Given the description of an element on the screen output the (x, y) to click on. 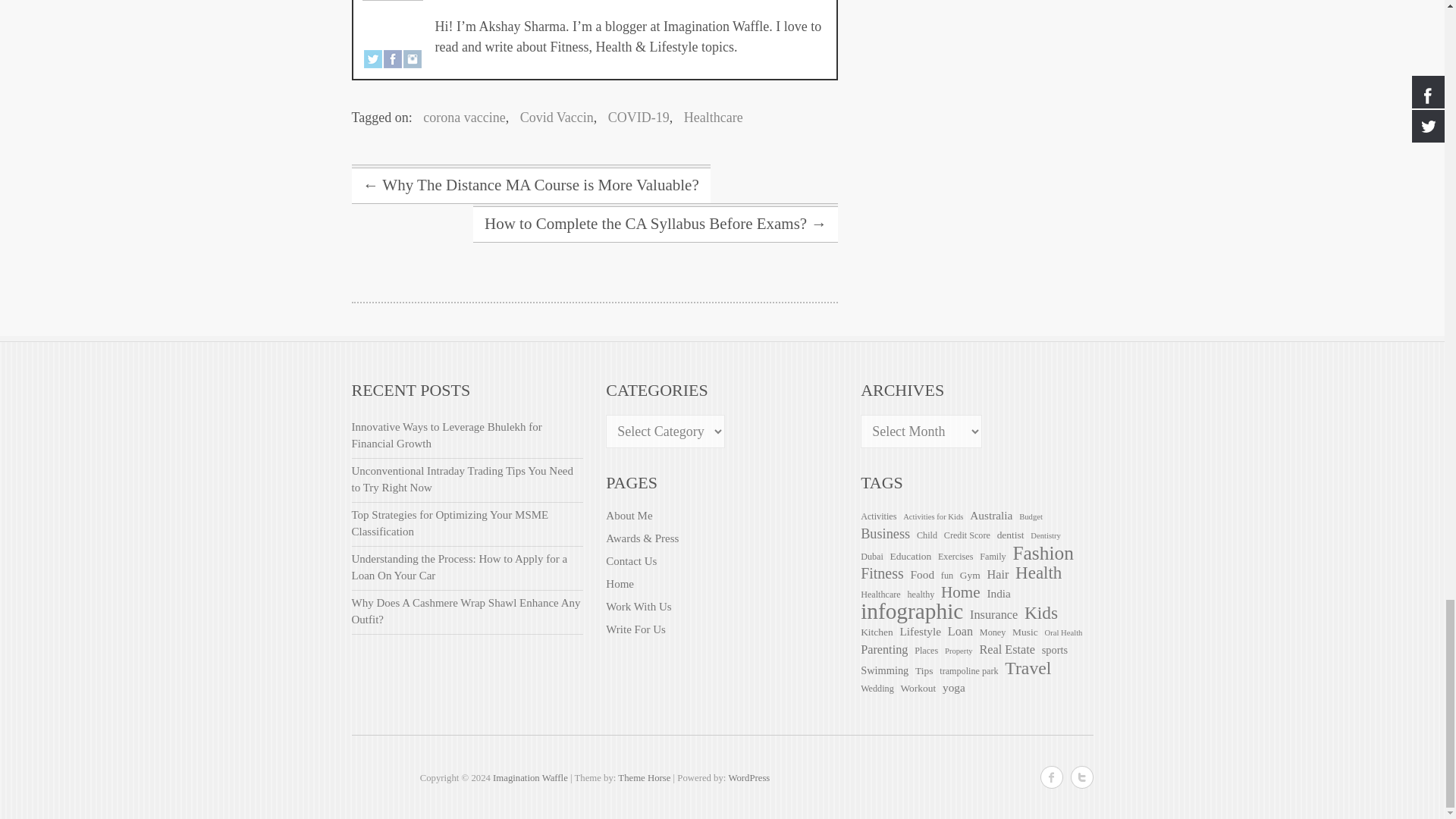
WordPress (749, 777)
Twitter (372, 59)
Instagram (412, 59)
Imagination Waffle (530, 777)
Imagination Waffle on Facebook (1051, 776)
Theme Horse (643, 777)
Imagination Waffle on Twitter (1081, 776)
Facebook (392, 59)
